Given the description of an element on the screen output the (x, y) to click on. 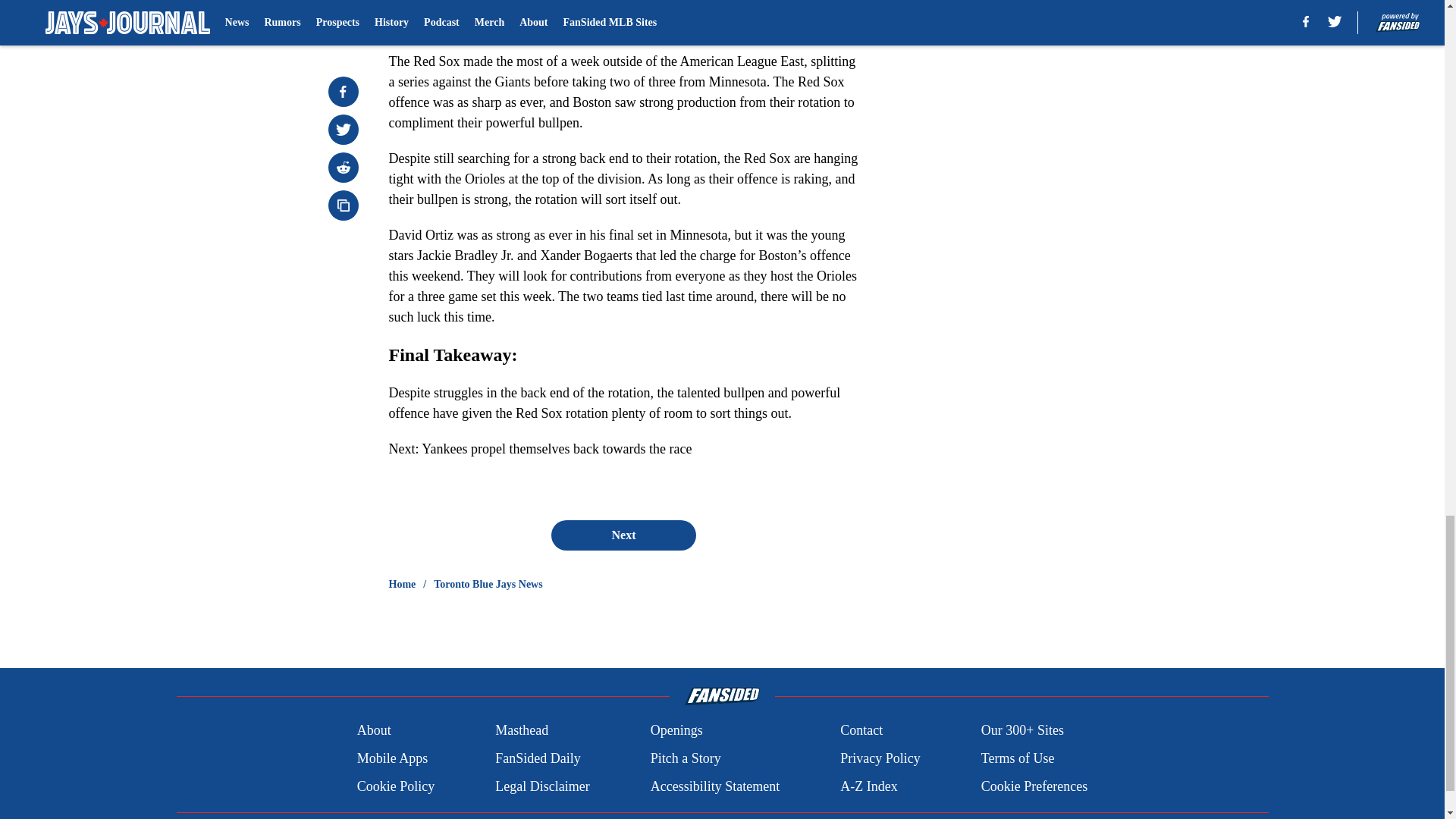
Accessibility Statement (714, 786)
Legal Disclaimer (542, 786)
About (373, 730)
Contact (861, 730)
A-Z Index (868, 786)
Cookie Policy (395, 786)
Pitch a Story (685, 758)
Masthead (521, 730)
Openings (676, 730)
Toronto Blue Jays News (488, 584)
Mobile Apps (392, 758)
Privacy Policy (880, 758)
Home (401, 584)
Next (622, 535)
Terms of Use (1017, 758)
